Given the description of an element on the screen output the (x, y) to click on. 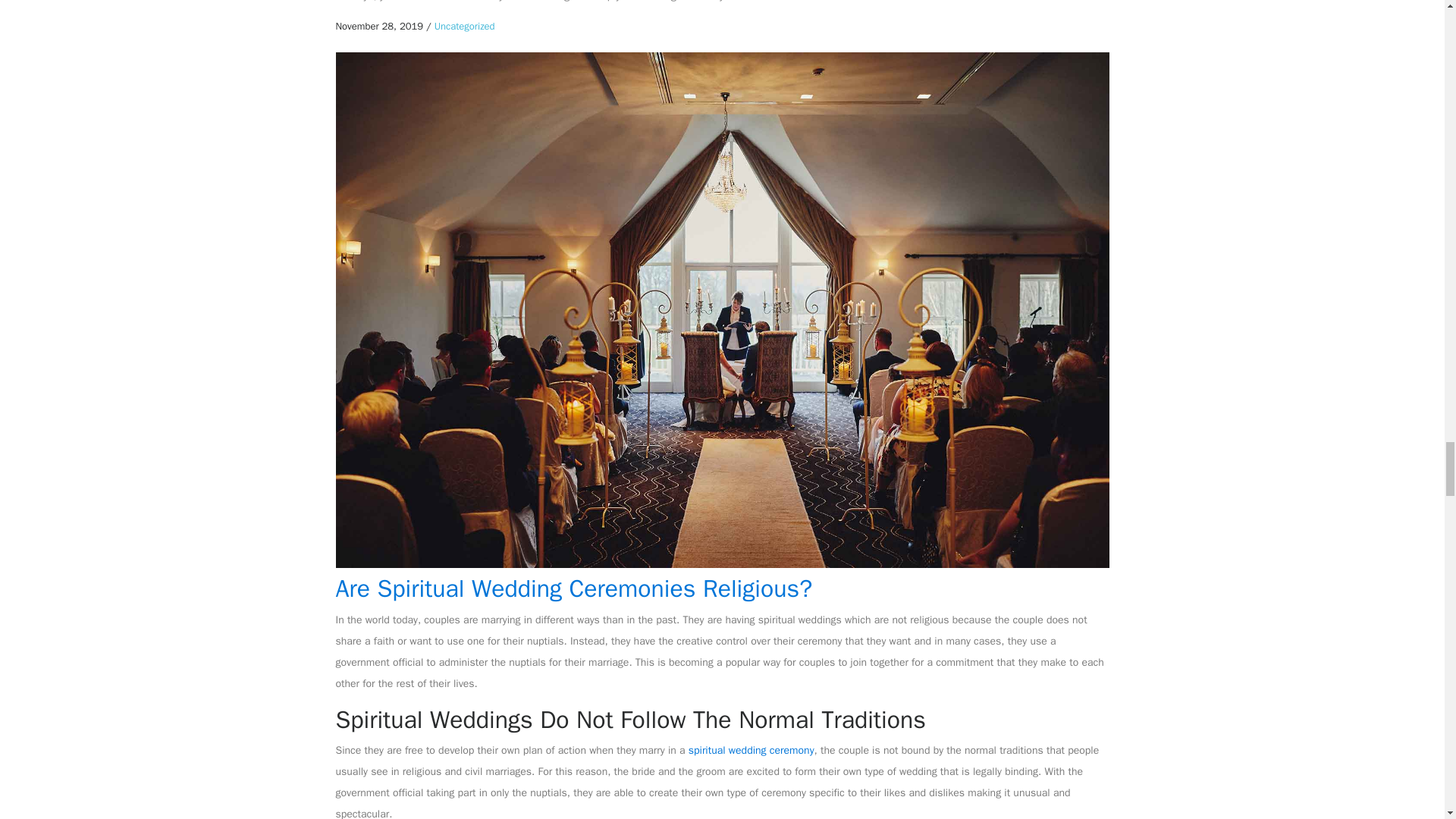
Are Spiritual Wedding Ceremonies Religious? (573, 588)
spiritual wedding ceremony (750, 749)
Uncategorized (464, 25)
Uncategorized (464, 25)
